Given the description of an element on the screen output the (x, y) to click on. 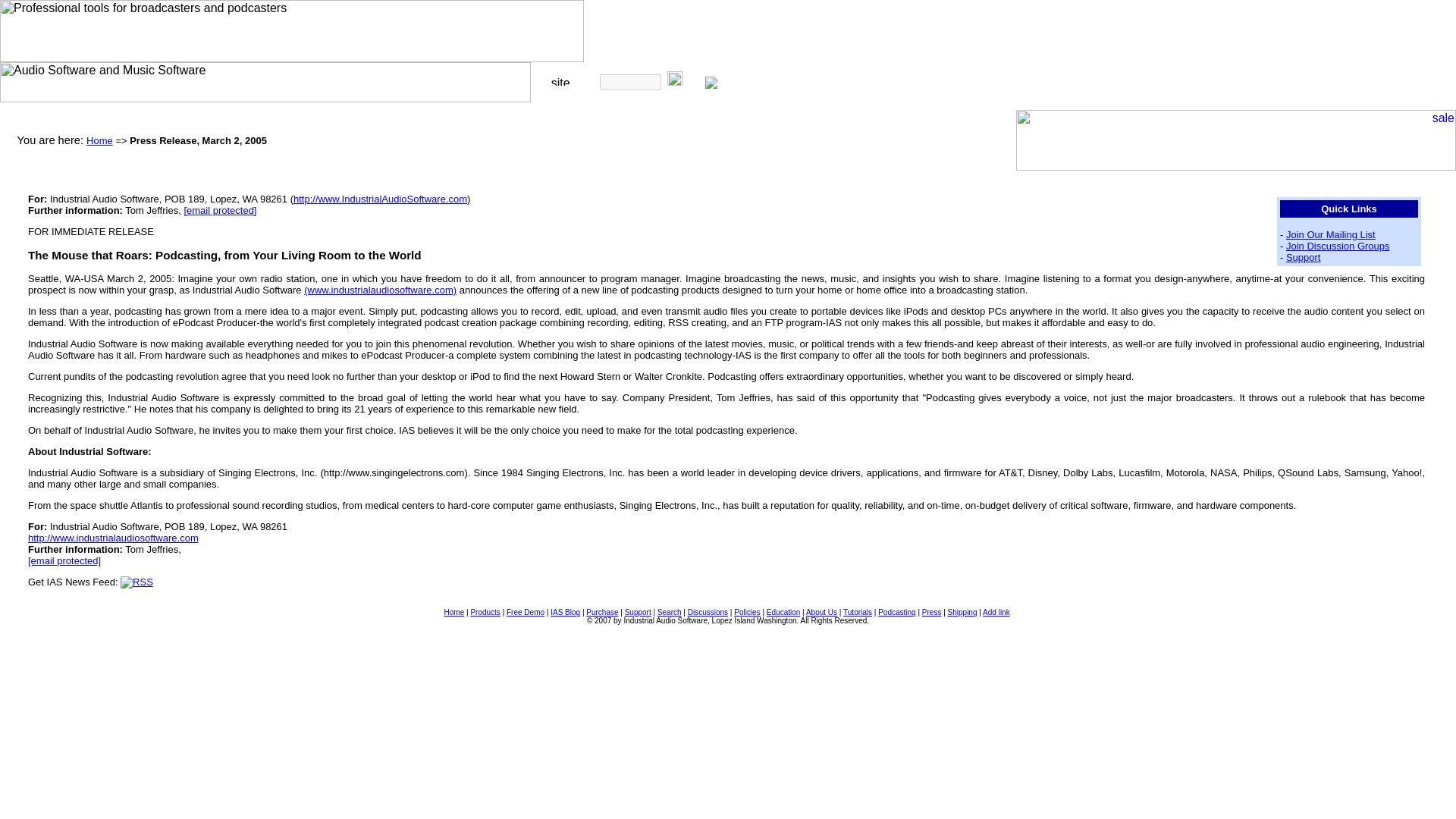
Shipping (961, 612)
Support (1302, 256)
Discussions (707, 612)
IAS Blog (564, 612)
Join Discussion Groups (1337, 245)
Search (669, 612)
Home (454, 612)
Home (99, 140)
Policies (746, 612)
Support (637, 612)
